Given the description of an element on the screen output the (x, y) to click on. 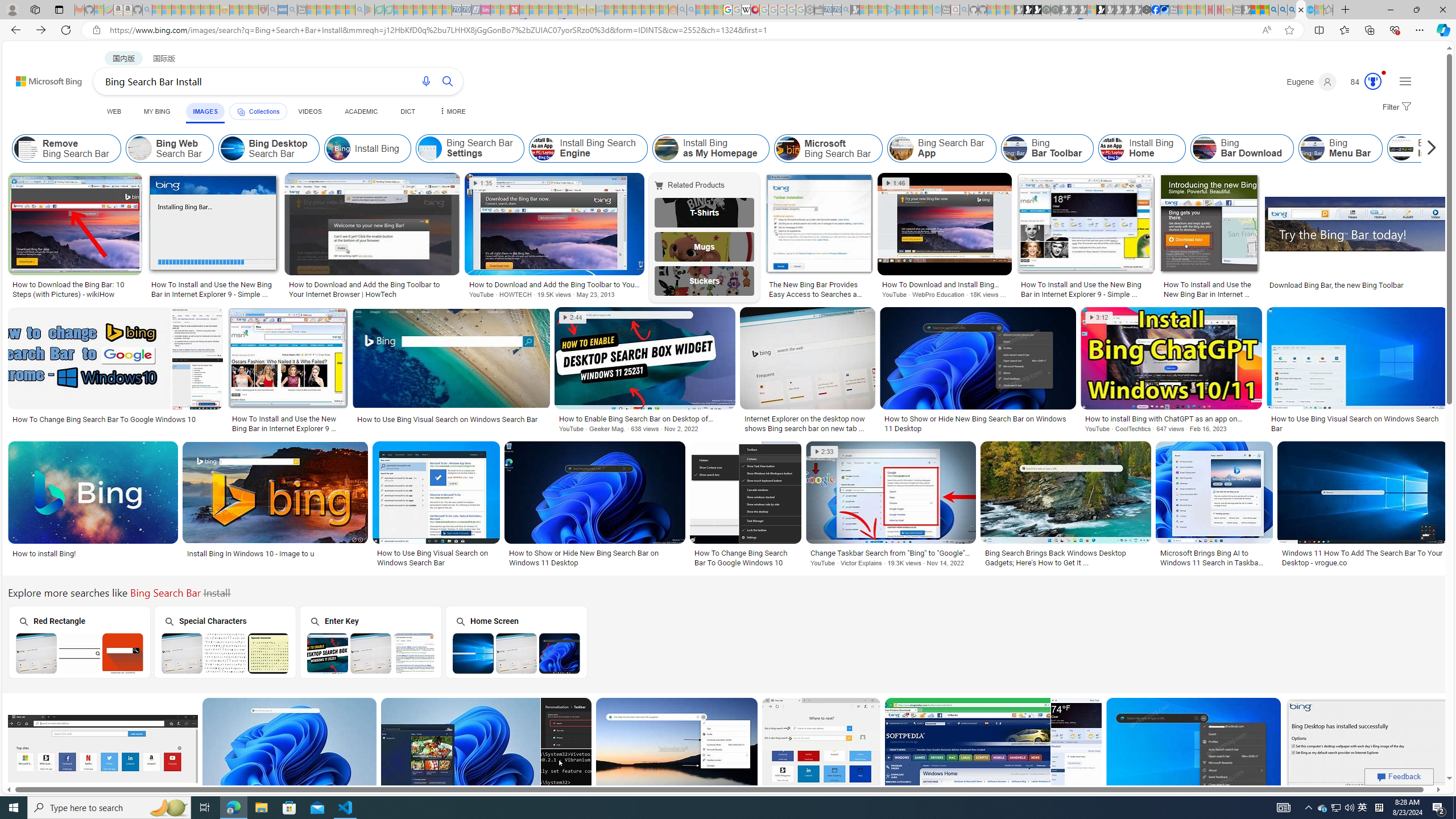
Bing Desktop Search Bar (231, 148)
How to Use Bing Visual Search on Windows Search Bar (436, 557)
3:12 (1098, 317)
How to install Bing!Save (94, 505)
WEB (114, 111)
Bing Desktop Search Bar (268, 148)
Animation (1383, 72)
2009 Bing officially replaced Live Search on June 3 - Search (1283, 9)
